Given the description of an element on the screen output the (x, y) to click on. 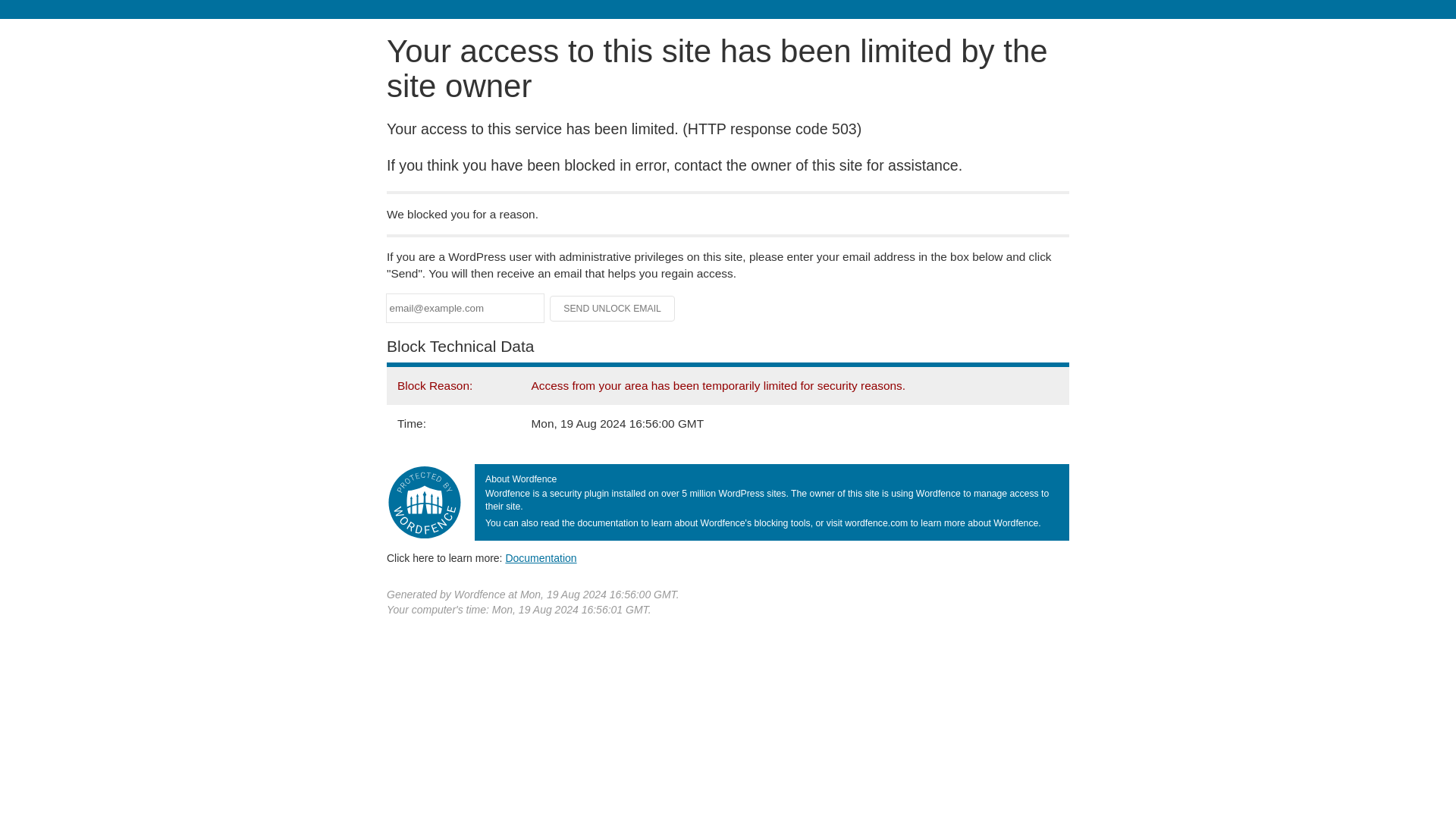
Send Unlock Email (612, 308)
Documentation (540, 558)
Send Unlock Email (612, 308)
